Given the description of an element on the screen output the (x, y) to click on. 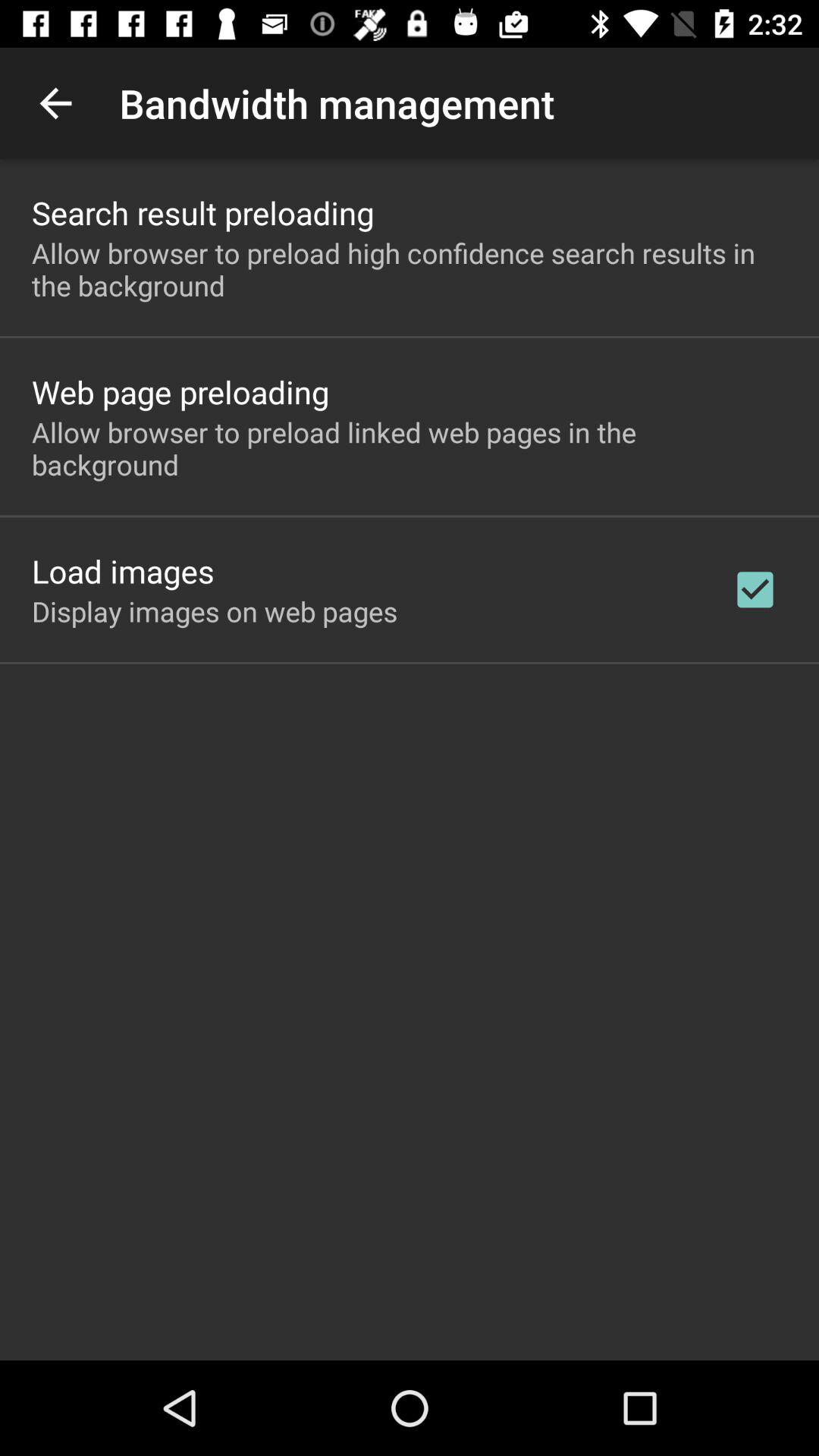
open search result preloading (202, 212)
